Given the description of an element on the screen output the (x, y) to click on. 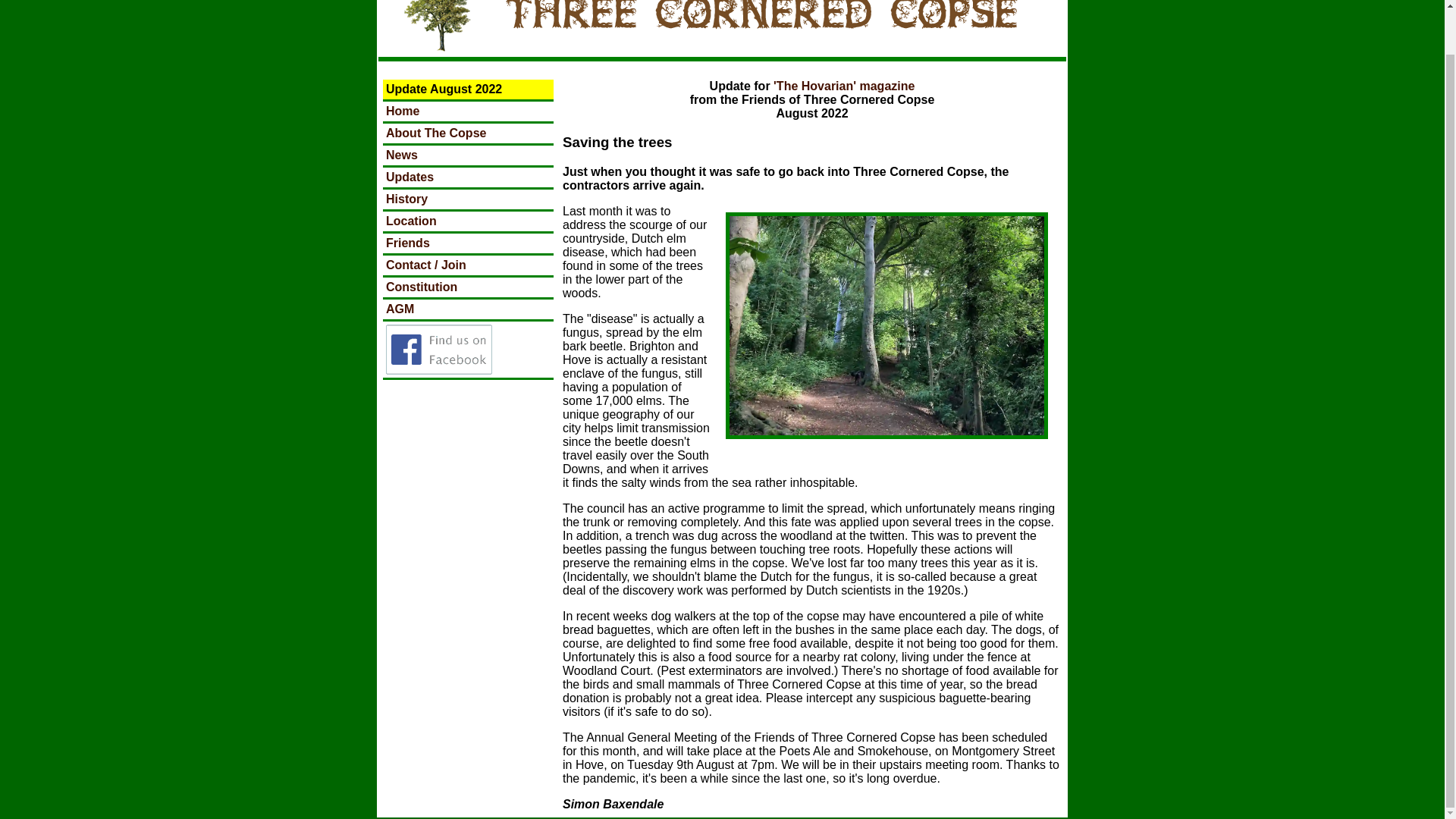
Constitution (421, 286)
About The Copse (435, 132)
History (406, 198)
follow me on facebook (438, 369)
News (401, 154)
Home (402, 110)
Friends (407, 242)
Location (410, 220)
AGM (399, 308)
Updates (409, 176)
the Copse in full leaf (886, 325)
'The Hovarian' magazine (843, 85)
